Given the description of an element on the screen output the (x, y) to click on. 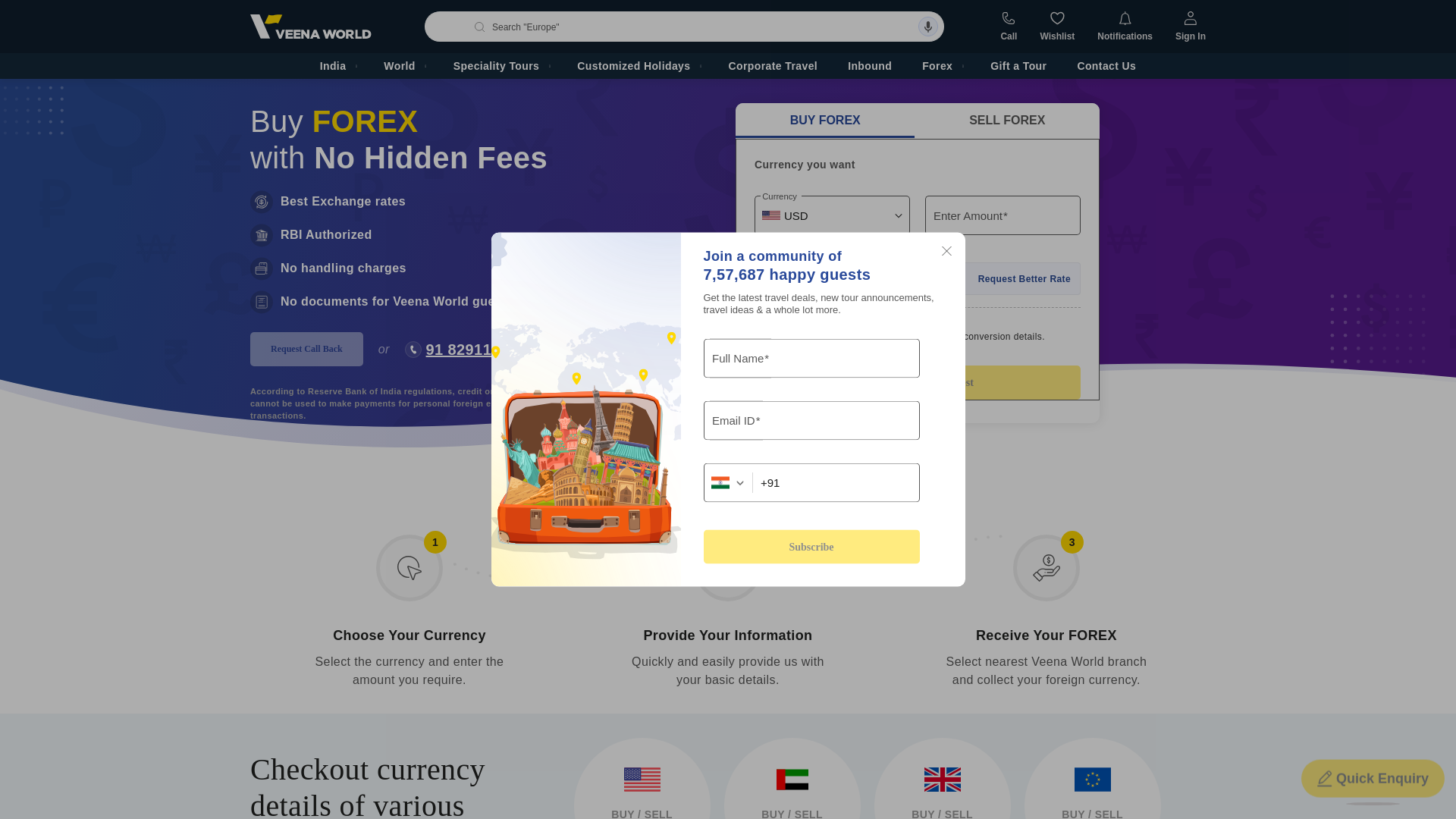
India (336, 65)
Wishlist (1056, 26)
